Given the description of an element on the screen output the (x, y) to click on. 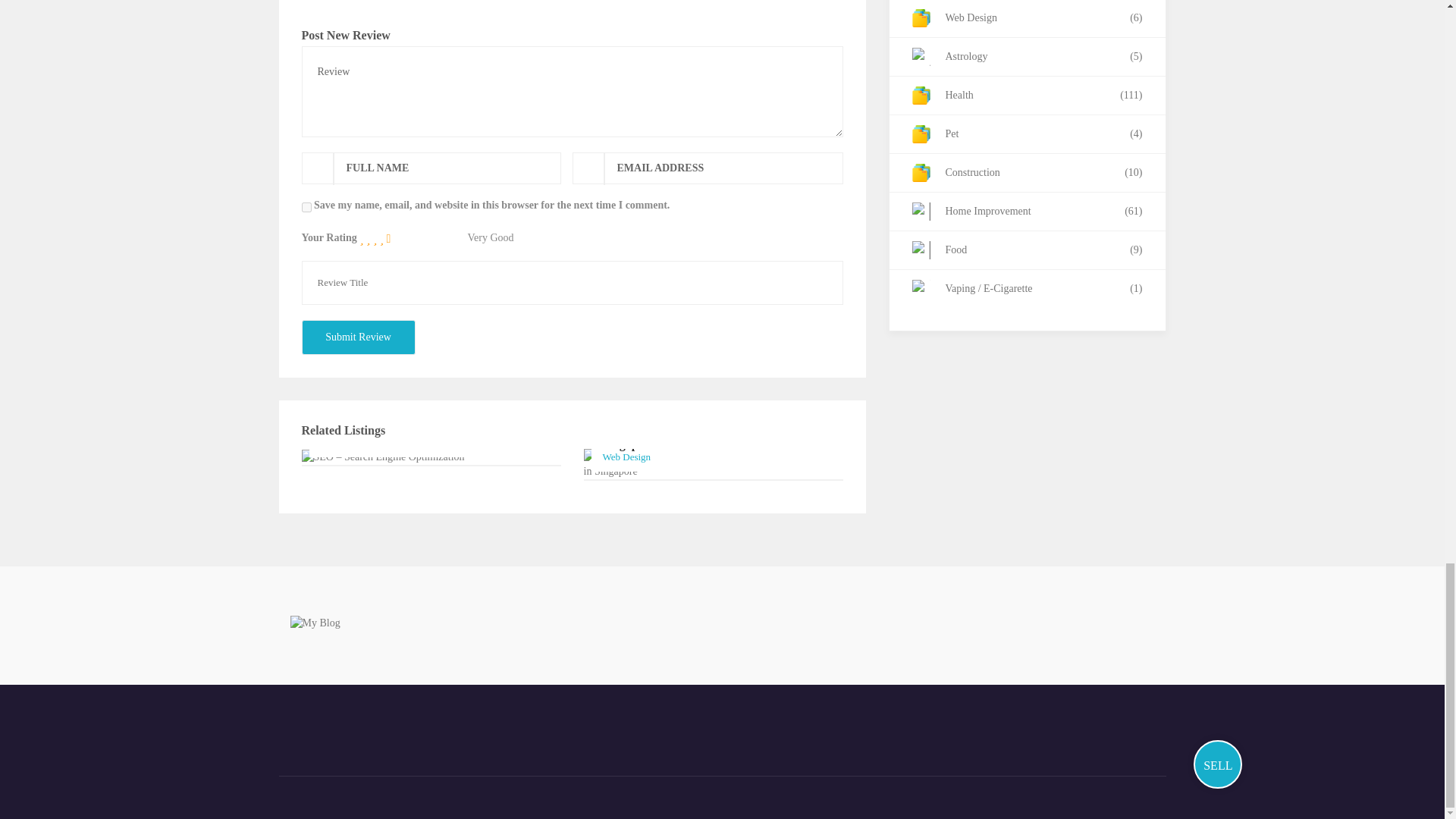
yes (306, 207)
Submit Review (357, 337)
Submit Review (357, 337)
Web Design (626, 456)
